Given the description of an element on the screen output the (x, y) to click on. 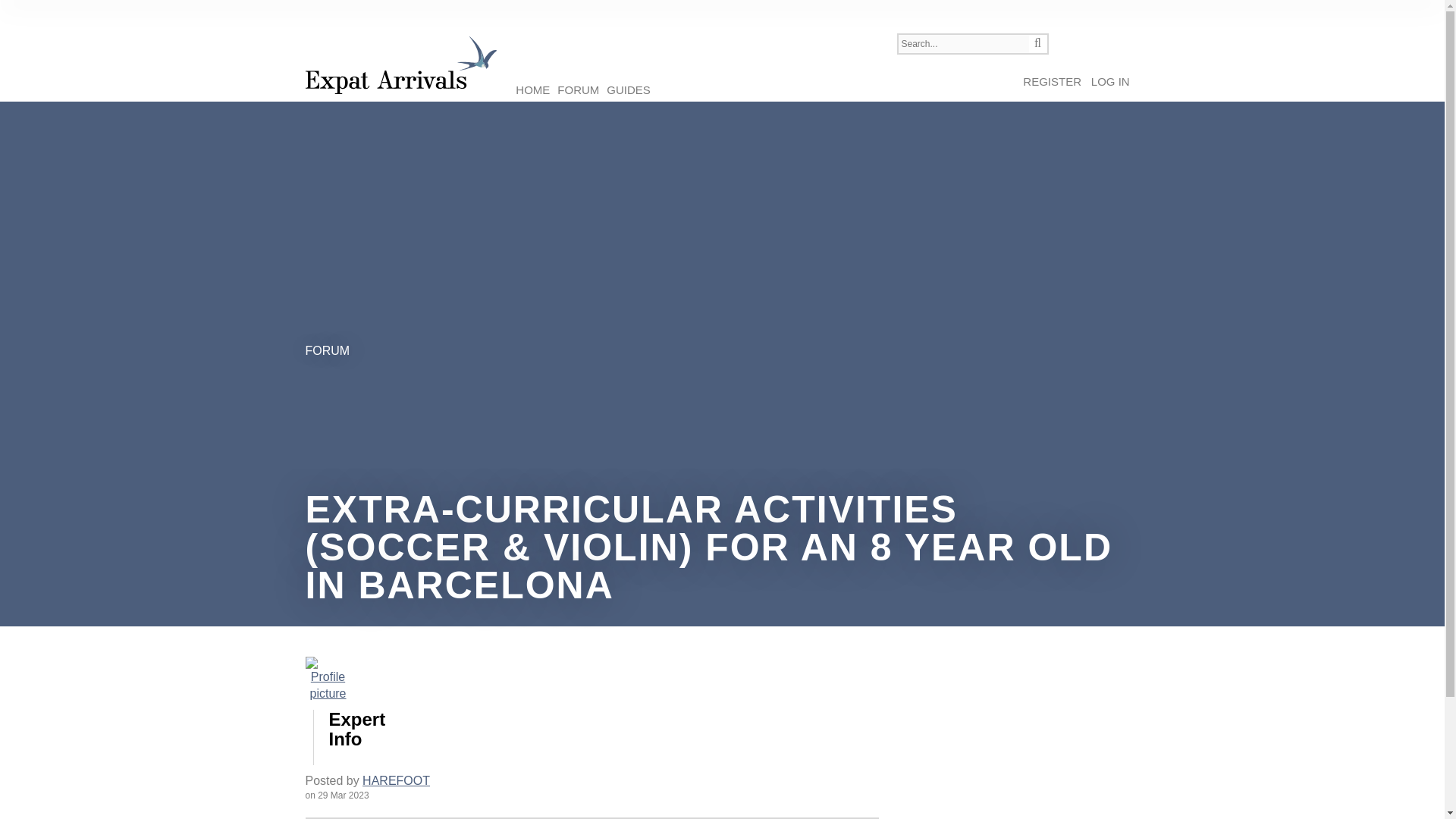
Sign me up (1052, 81)
Search (1037, 43)
REGISTER (1052, 81)
GUIDES (627, 90)
Enter the terms you wish to search for. (961, 43)
HOME (532, 90)
LOG IN (1109, 81)
Search (1037, 43)
Home (400, 65)
